Given the description of an element on the screen output the (x, y) to click on. 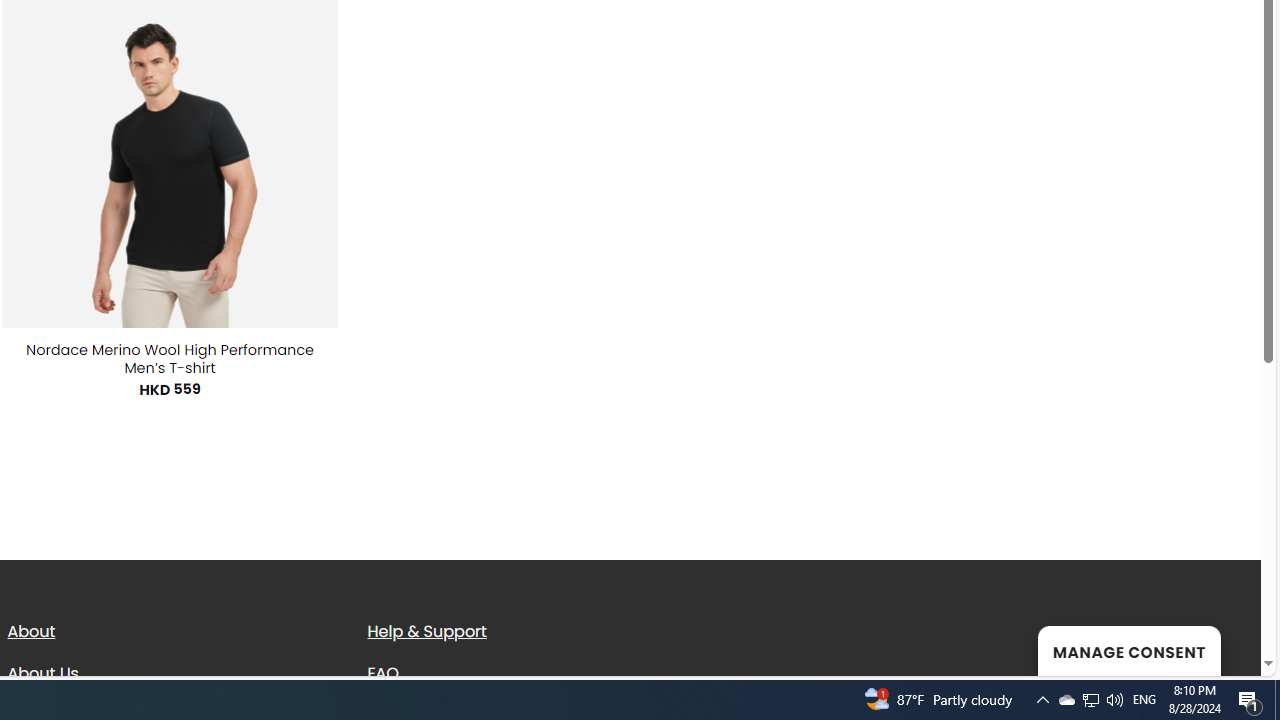
About Us (171, 673)
Go to top (1220, 647)
About Us (42, 672)
MANAGE CONSENT (1128, 650)
FAQ (383, 672)
FAQ (532, 673)
